Given the description of an element on the screen output the (x, y) to click on. 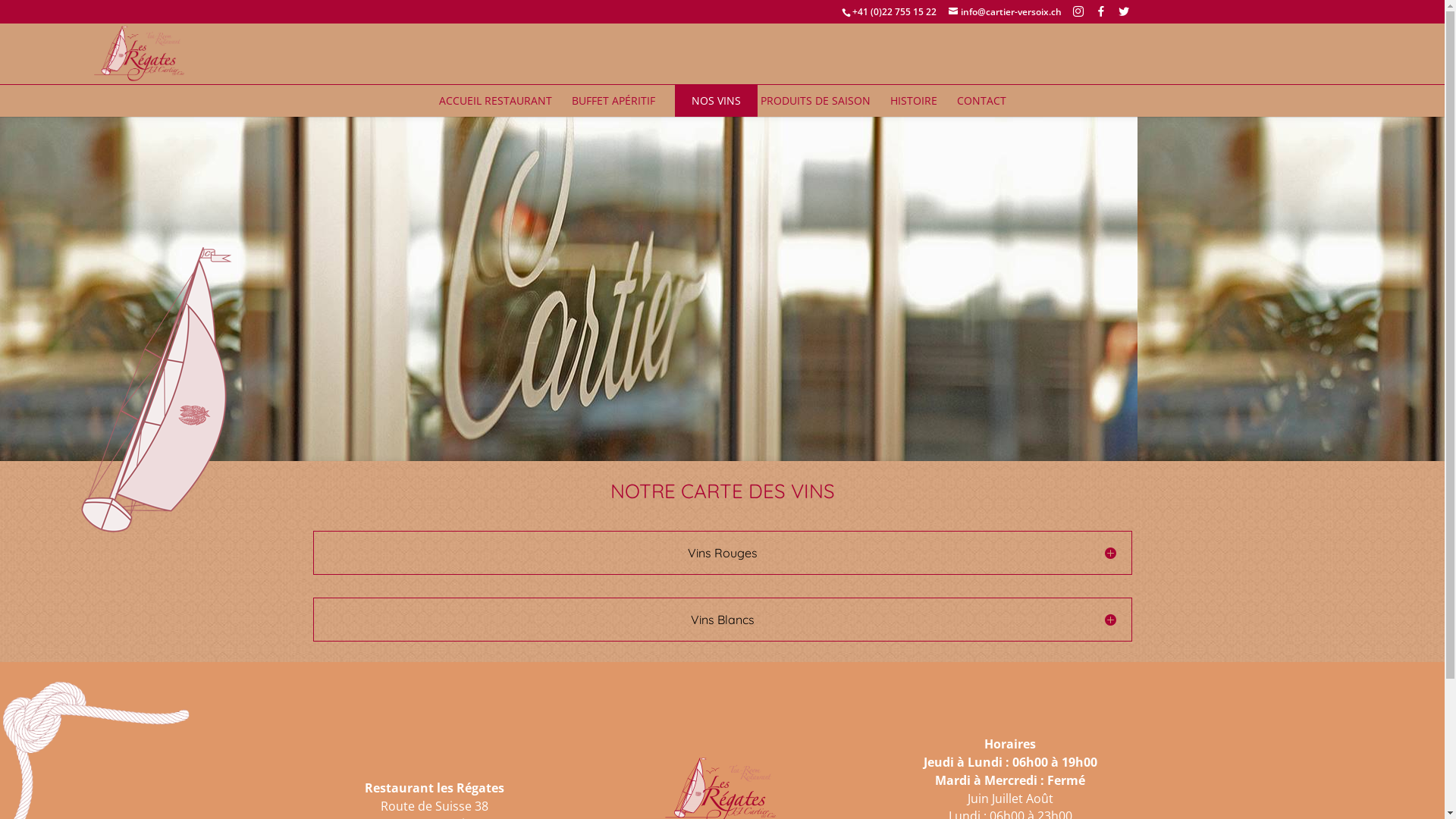
CONTACT Element type: text (981, 100)
NOS VINS Element type: text (715, 100)
ACCUEIL RESTAURANT Element type: text (494, 100)
info@cartier-versoix.ch Element type: text (1003, 11)
HISTOIRE Element type: text (913, 100)
PRODUITS DE SAISON Element type: text (814, 100)
+41 (0)22 755 15 22 Element type: text (894, 11)
